Given the description of an element on the screen output the (x, y) to click on. 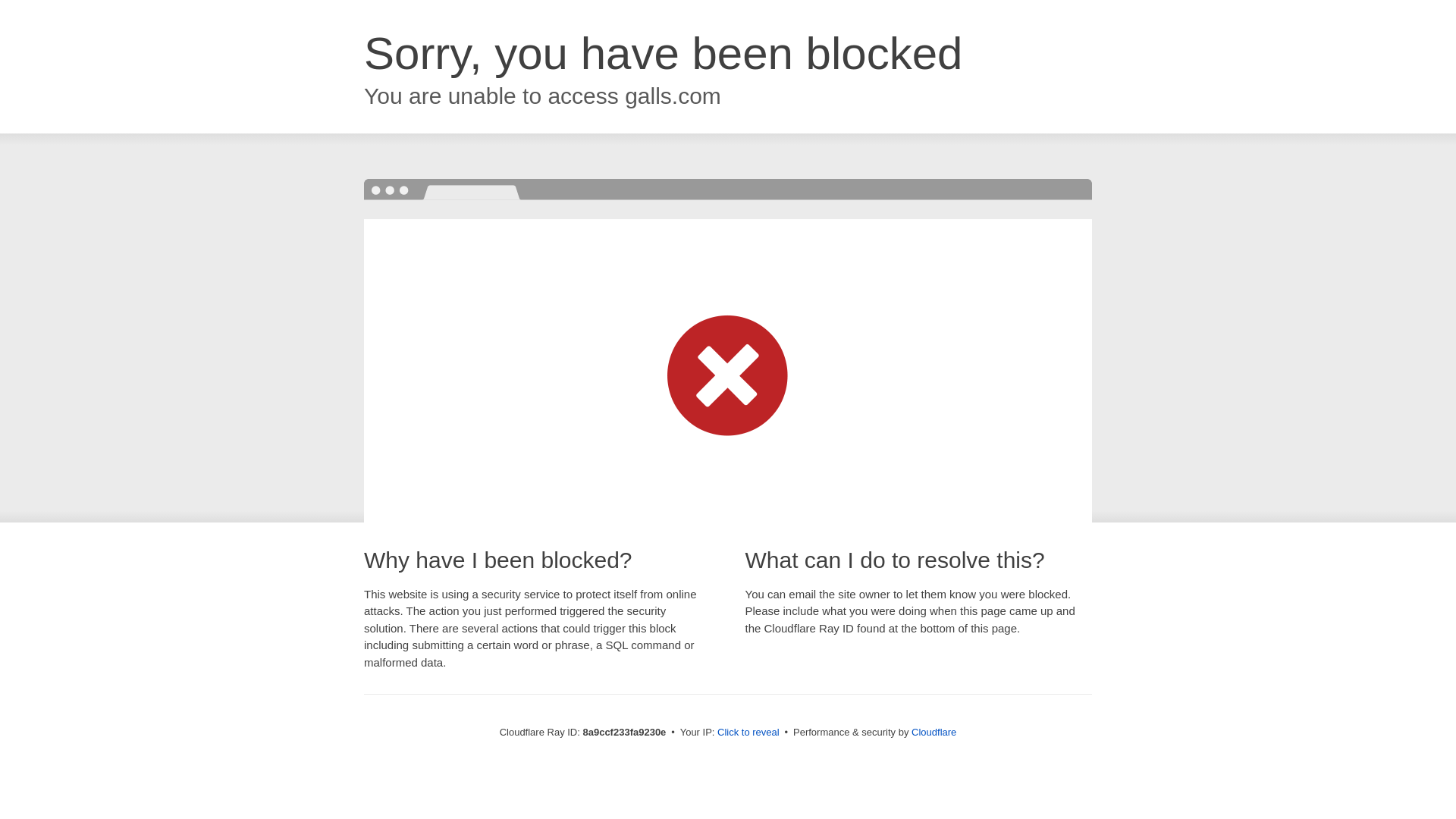
Click to reveal (747, 732)
Cloudflare (933, 731)
